Given the description of an element on the screen output the (x, y) to click on. 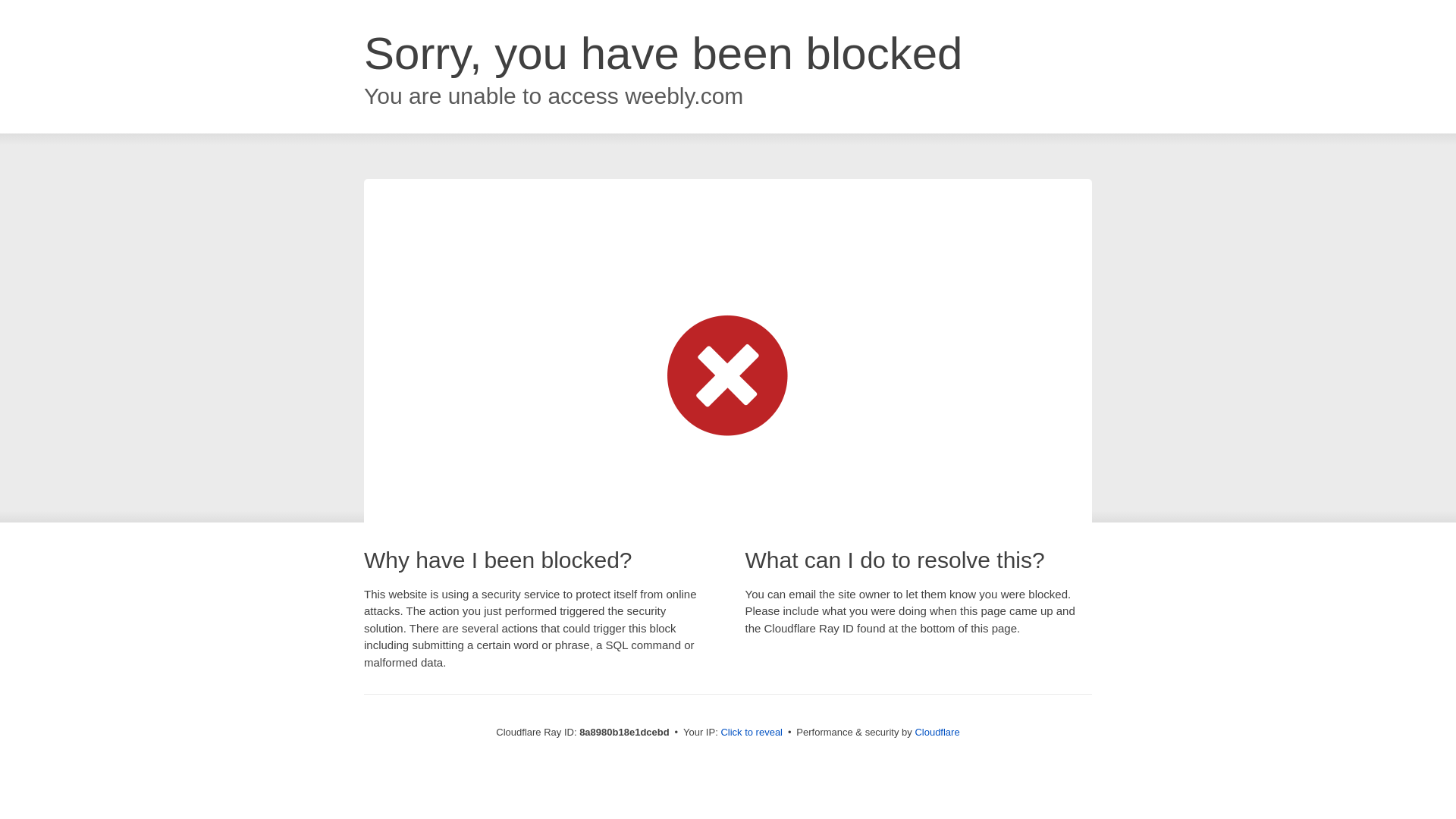
Cloudflare (936, 731)
Click to reveal (751, 732)
